Given the description of an element on the screen output the (x, y) to click on. 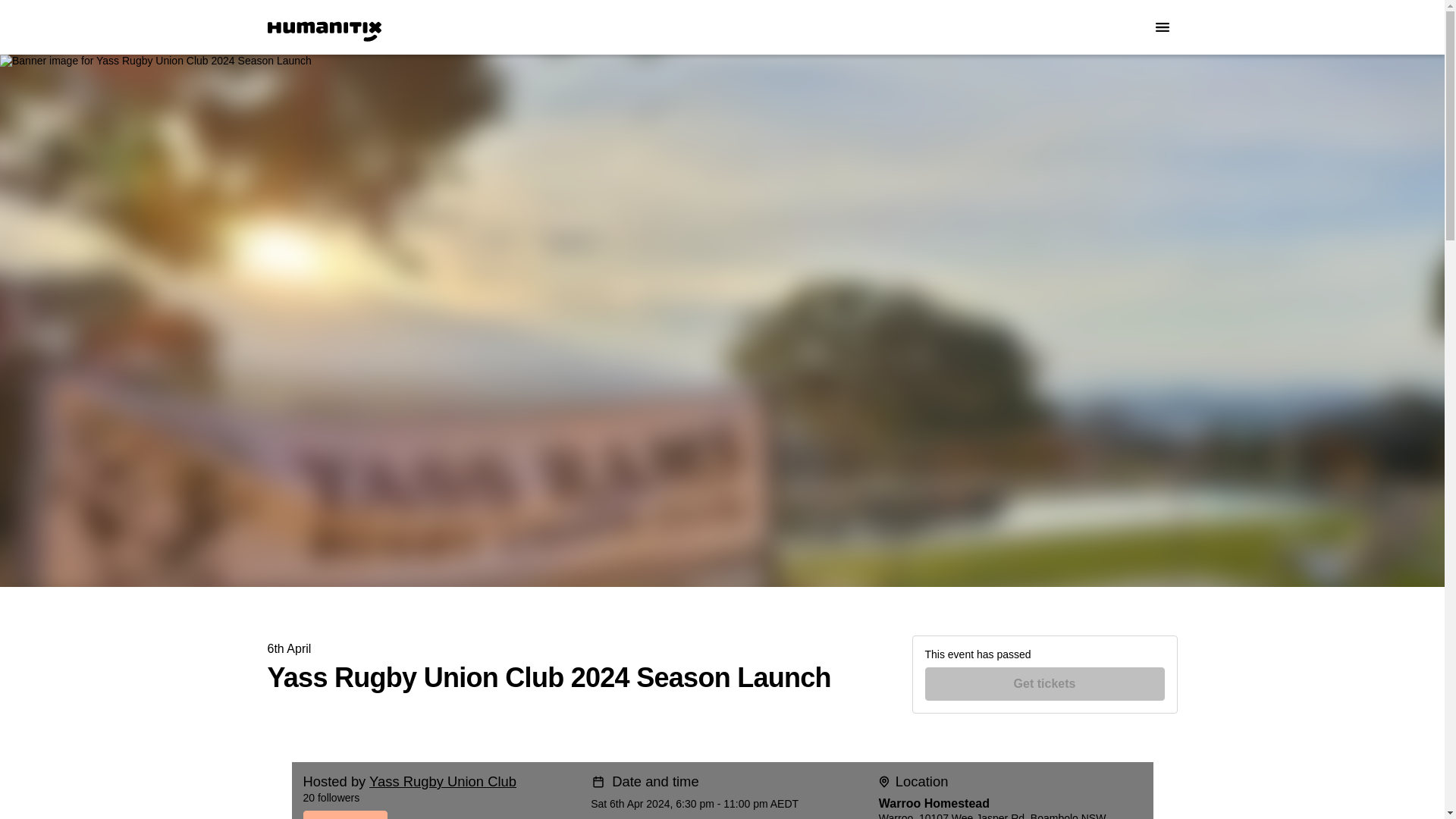
Get tickets (1044, 684)
Yass Rugby Union Club (442, 781)
Follow (417, 814)
Skip to Content (18, 18)
